Given the description of an element on the screen output the (x, y) to click on. 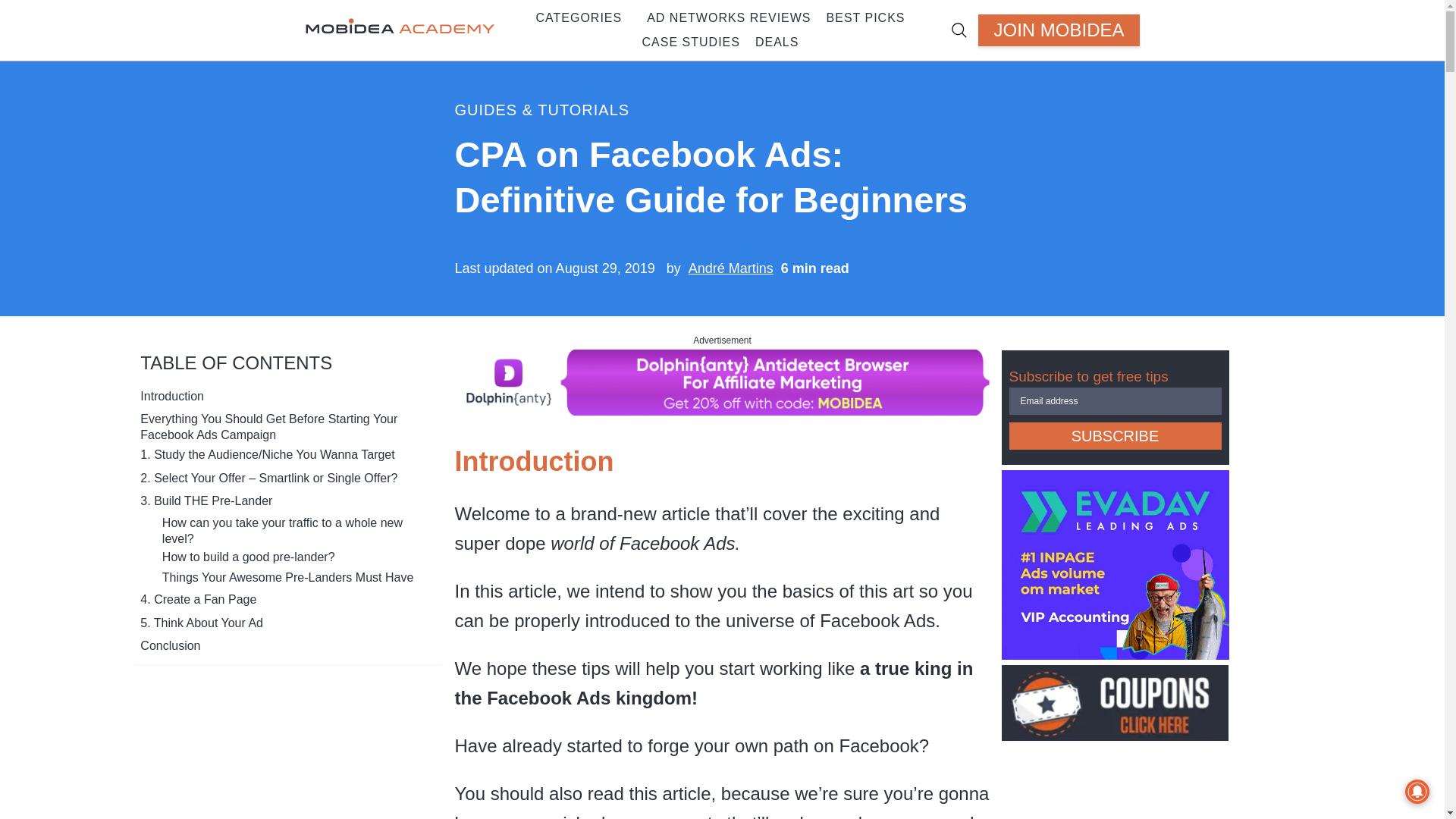
evadav banner (1114, 654)
banner placement 1 (722, 408)
CASE STUDIES (691, 42)
How can you take your traffic to a whole new level? (294, 531)
Conclusion (169, 645)
BEST PICKS (861, 17)
5. Think About Your Ad (201, 622)
AD NETWORKS REVIEWS (728, 17)
DEALS (772, 42)
3. Build THE Pre-Lander (205, 500)
CATEGORIES (574, 17)
Introduction (171, 396)
4. Create a Fan Page (197, 599)
How to build a good pre-lander? (247, 556)
